Given the description of an element on the screen output the (x, y) to click on. 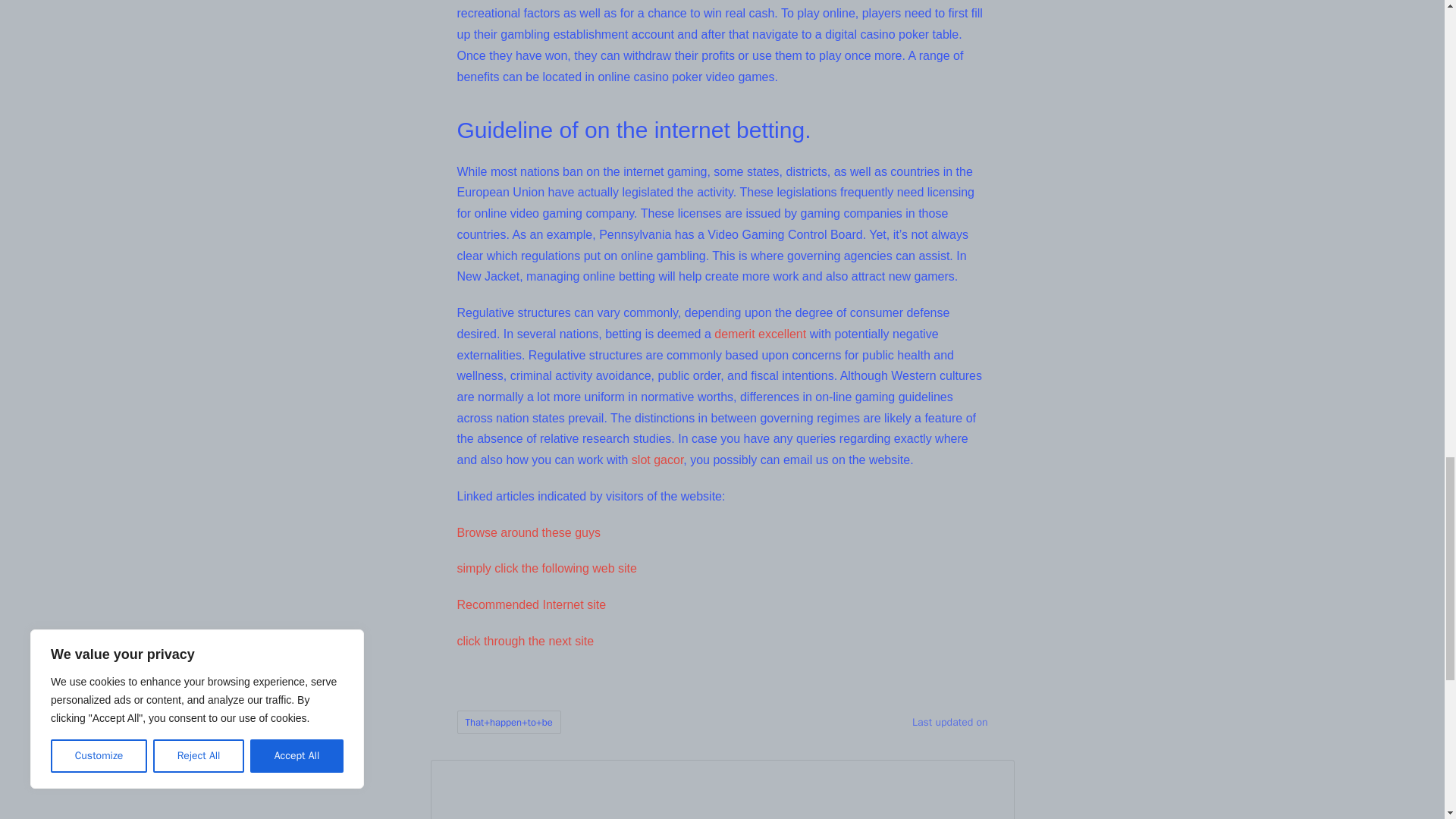
simply click the following web site (546, 567)
Browse around these guys (528, 532)
demerit excellent (760, 333)
View All Posts (571, 816)
Recommended Internet site (531, 604)
slot gacor (656, 459)
click through the next site (525, 640)
